Given the description of an element on the screen output the (x, y) to click on. 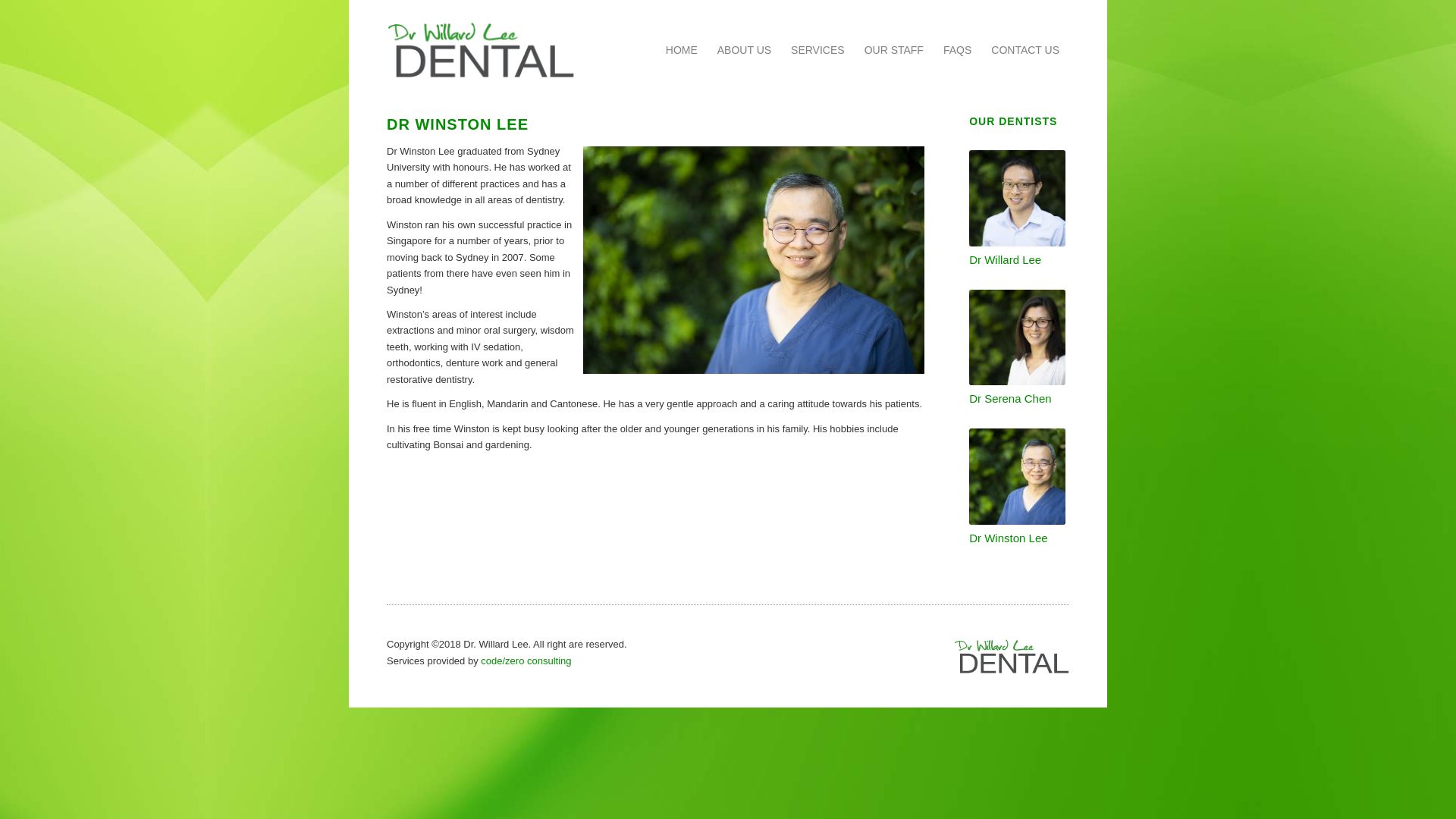
FAQS Element type: text (957, 49)
HOME Element type: text (681, 49)
SERVICES Element type: text (817, 49)
OUR STAFF Element type: text (893, 49)
code/zero consulting Element type: text (525, 660)
CONTACT US Element type: text (1025, 49)
ABOUT US Element type: text (744, 49)
